Given the description of an element on the screen output the (x, y) to click on. 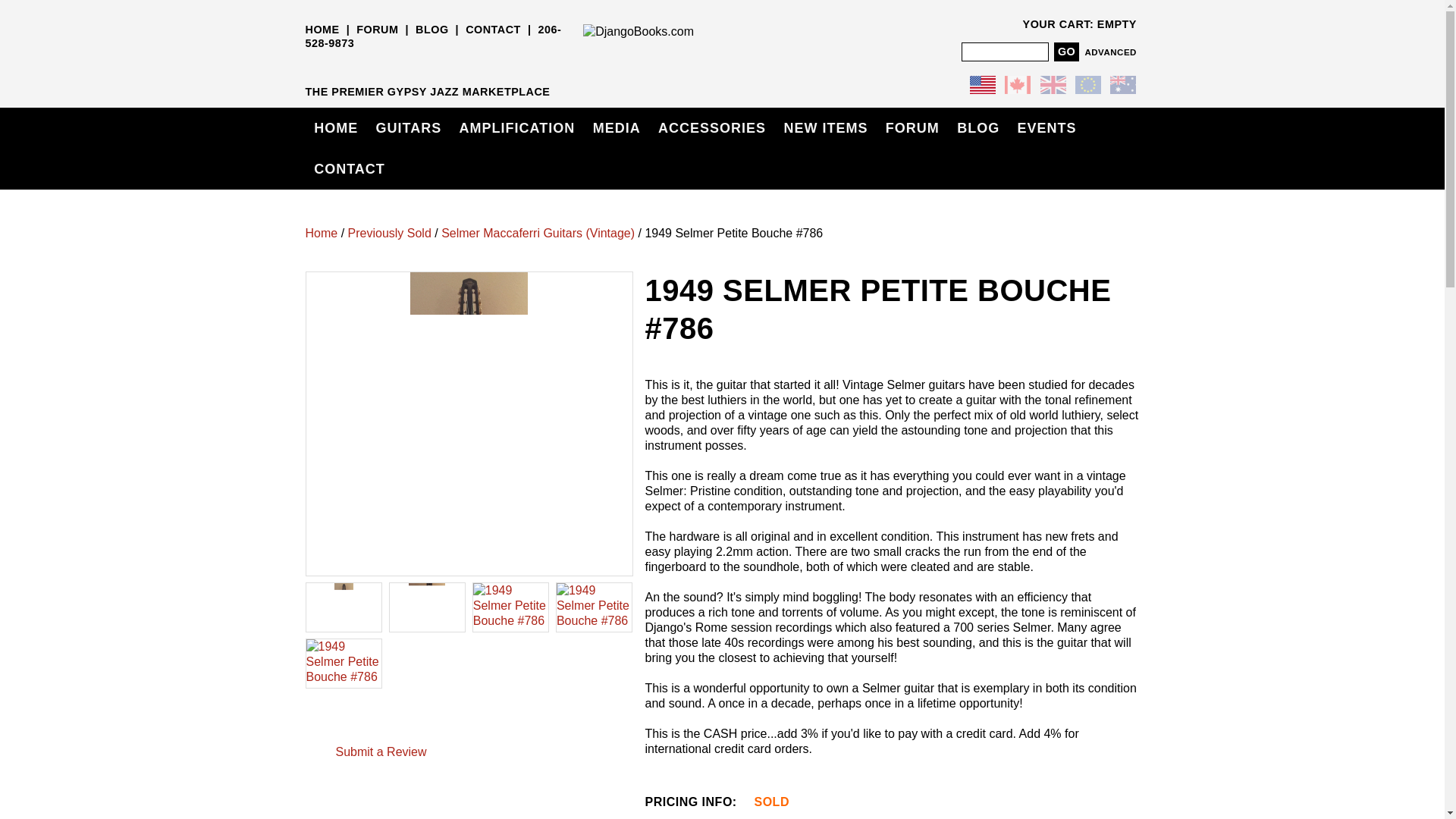
FOLLOW US (364, 65)
EUR (1087, 86)
AUD (1122, 86)
FOLLOW US (341, 65)
Guitars (407, 127)
FOLLOW US (389, 65)
Follow Us (365, 718)
HOME (321, 29)
SOUND CLOUD (463, 65)
Go (1066, 51)
Follow Us (341, 718)
Submit a Review (380, 751)
Youtube (438, 65)
ACCESSORIES (711, 127)
FORUM (376, 29)
